Given the description of an element on the screen output the (x, y) to click on. 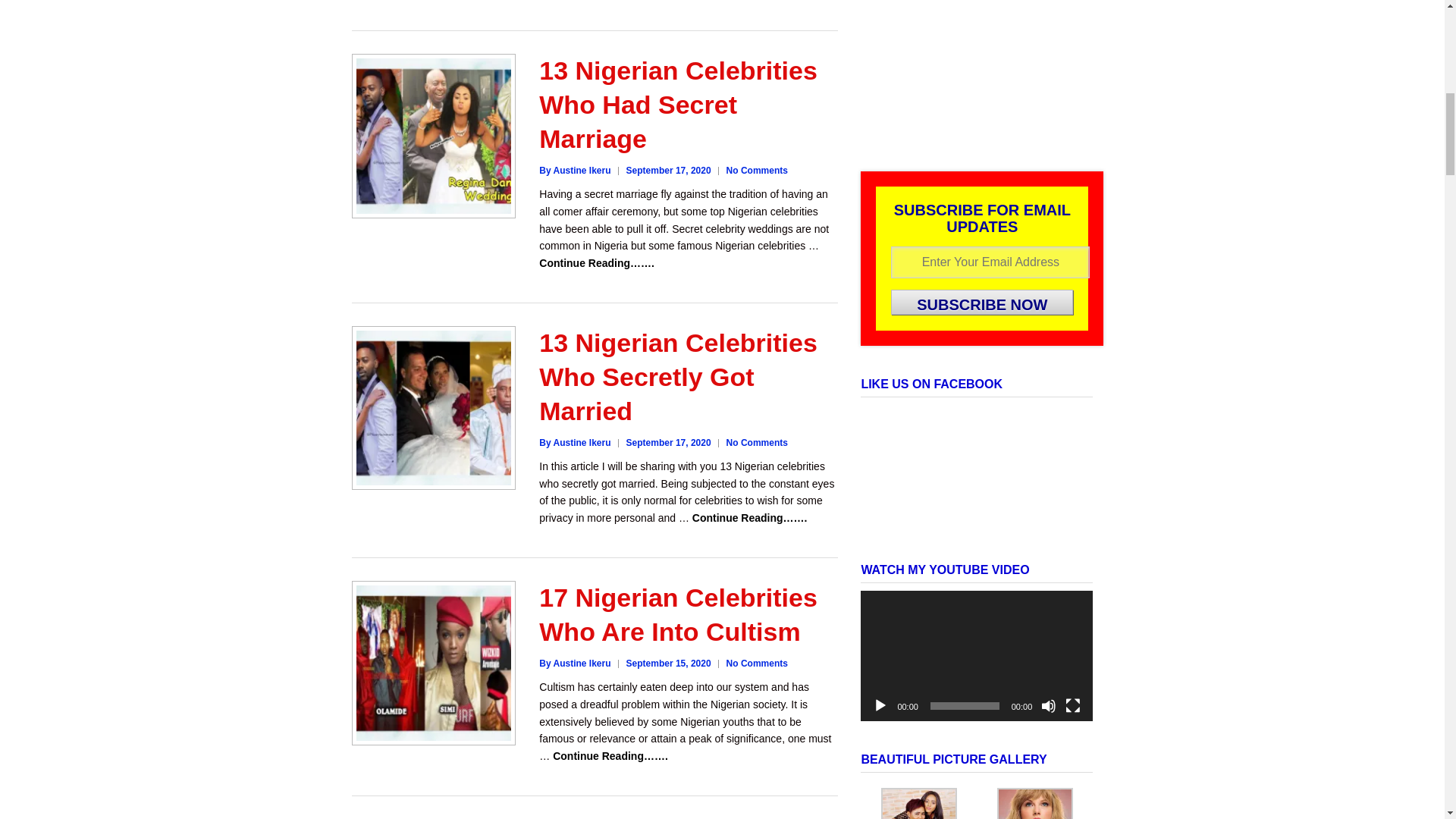
By Austine Ikeru (574, 170)
13 Nigerian Celebrities Who Had Secret Marriage (677, 104)
Austine Ikeru (574, 663)
By Austine Ikeru (574, 663)
Austine Ikeru (574, 170)
SUBSCRIBE NOW (982, 301)
No Comments (756, 442)
Austine Ikeru (574, 442)
17 Nigerian Celebrities Who Are Into Cultism (677, 614)
No Comments (756, 663)
13 Nigerian Celebrities Who Secretly Got Married (677, 376)
By Austine Ikeru (574, 442)
No Comments (756, 170)
